Given the description of an element on the screen output the (x, y) to click on. 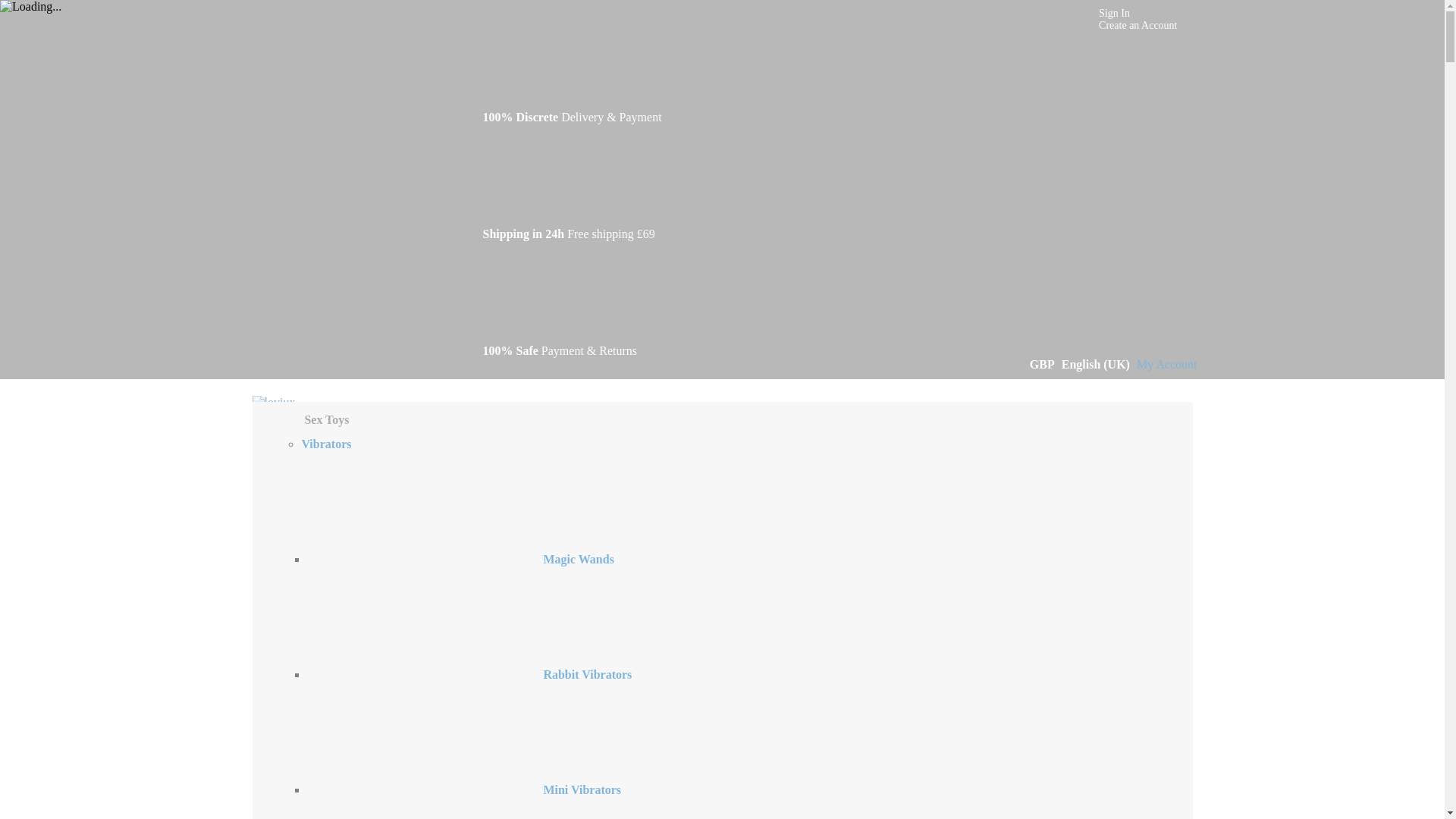
Magic Wands (460, 558)
Rabbit Vibrators (469, 674)
My Account (1166, 364)
Sex Toys (326, 419)
My Account (1166, 364)
Vibrators (325, 443)
Mini Vibrators (464, 789)
Sign In (1114, 12)
loviux (273, 402)
Create an Account (1137, 25)
